Given the description of an element on the screen output the (x, y) to click on. 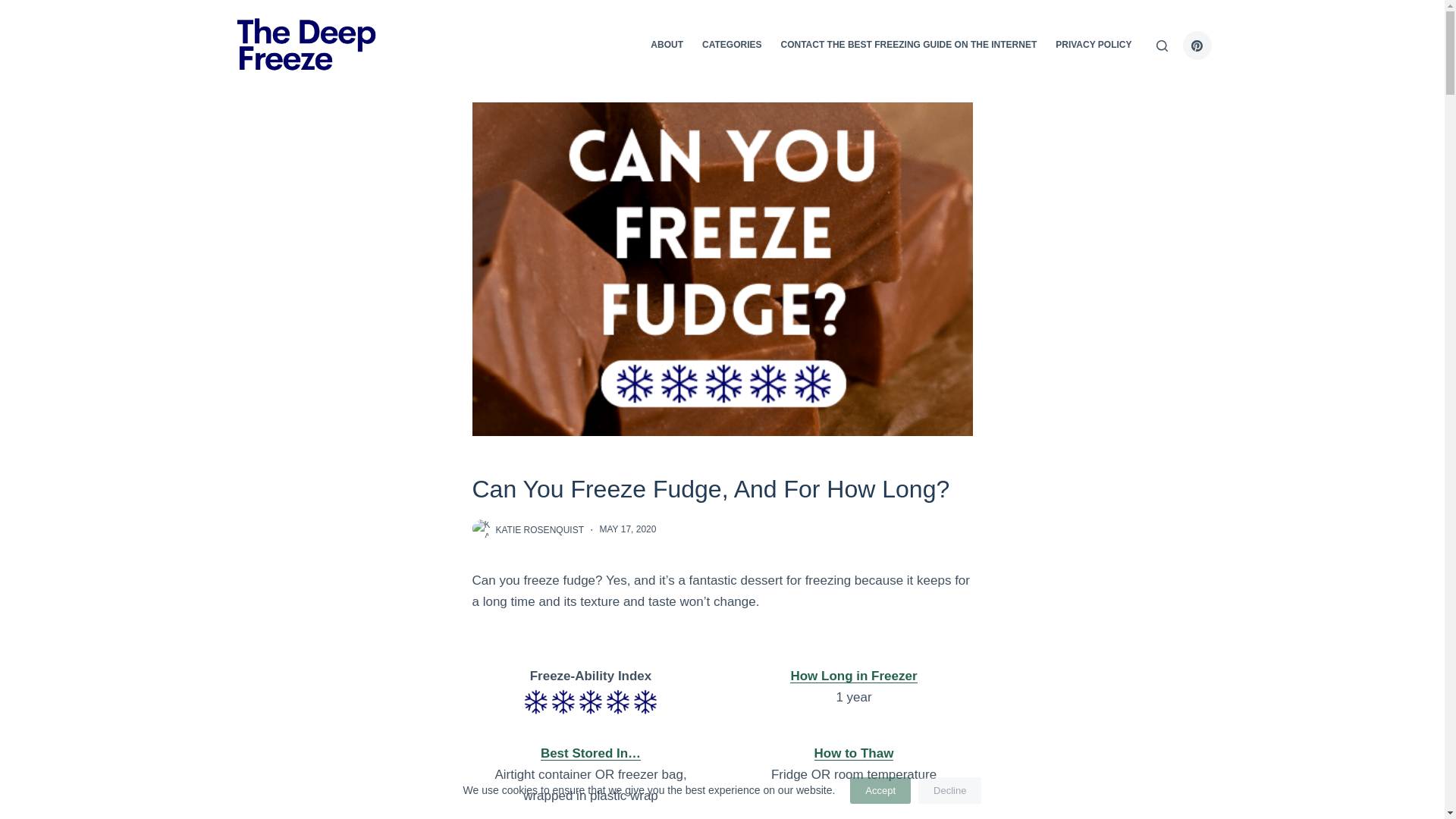
Posts by Katie Rosenquist (539, 529)
Skip to content (15, 7)
PRIVACY POLICY (1093, 45)
CONTACT THE BEST FREEZING GUIDE ON THE INTERNET (908, 45)
Can You Freeze Fudge, And For How Long? (721, 490)
How Long in Freezer (853, 676)
Accept (880, 790)
How to Thaw (853, 753)
KATIE ROSENQUIST (539, 529)
Decline (949, 790)
